Given the description of an element on the screen output the (x, y) to click on. 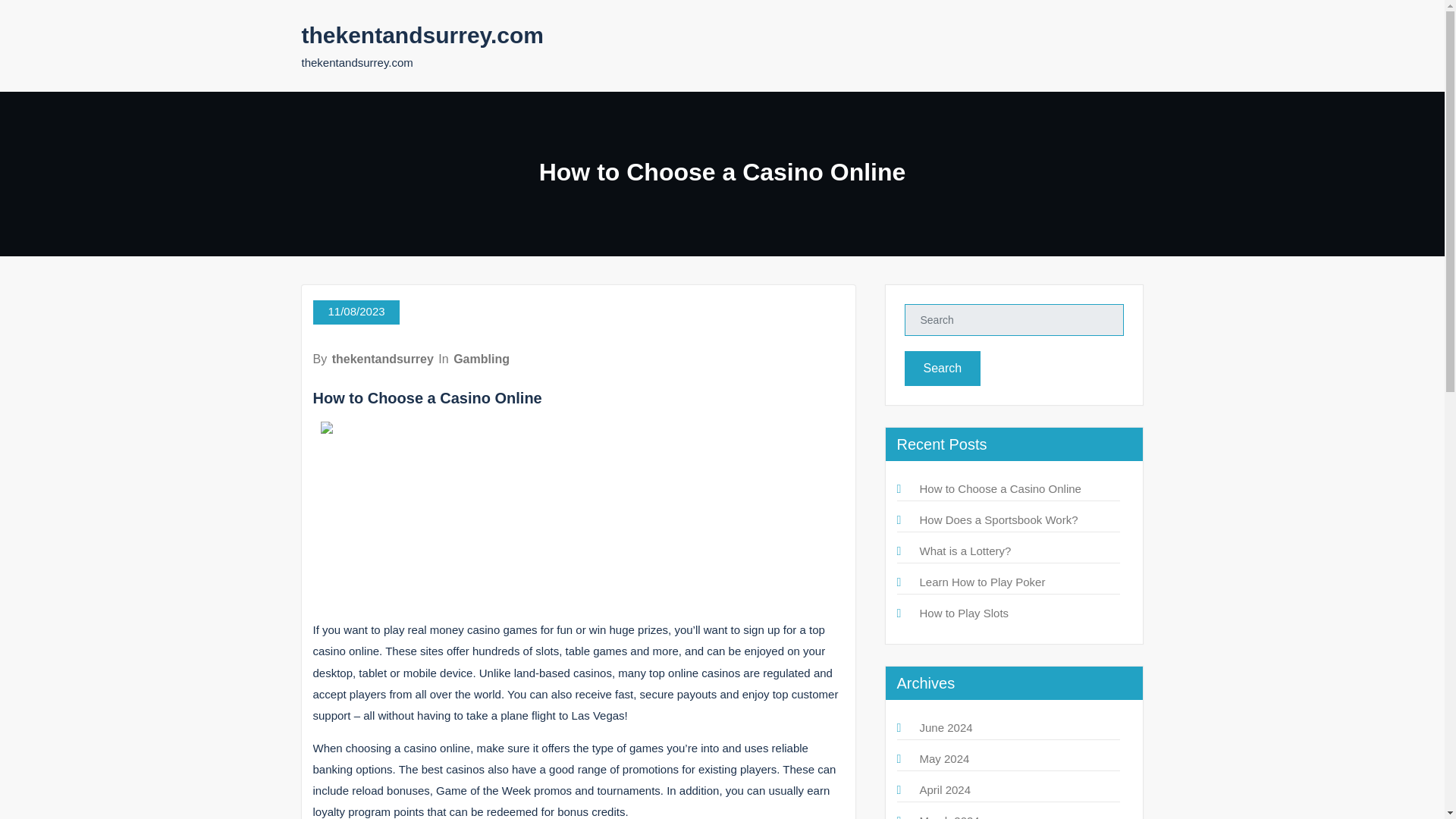
How Does a Sportsbook Work? (997, 519)
How to Choose a Casino Online (999, 488)
Search (941, 368)
June 2024 (945, 727)
April 2024 (944, 789)
What is a Lottery? (964, 550)
March 2024 (948, 816)
Gambling (481, 358)
May 2024 (943, 758)
thekentandsurrey (382, 358)
Learn How to Play Poker (981, 581)
thekentandsurrey.com (422, 34)
How to Play Slots (963, 612)
